Given the description of an element on the screen output the (x, y) to click on. 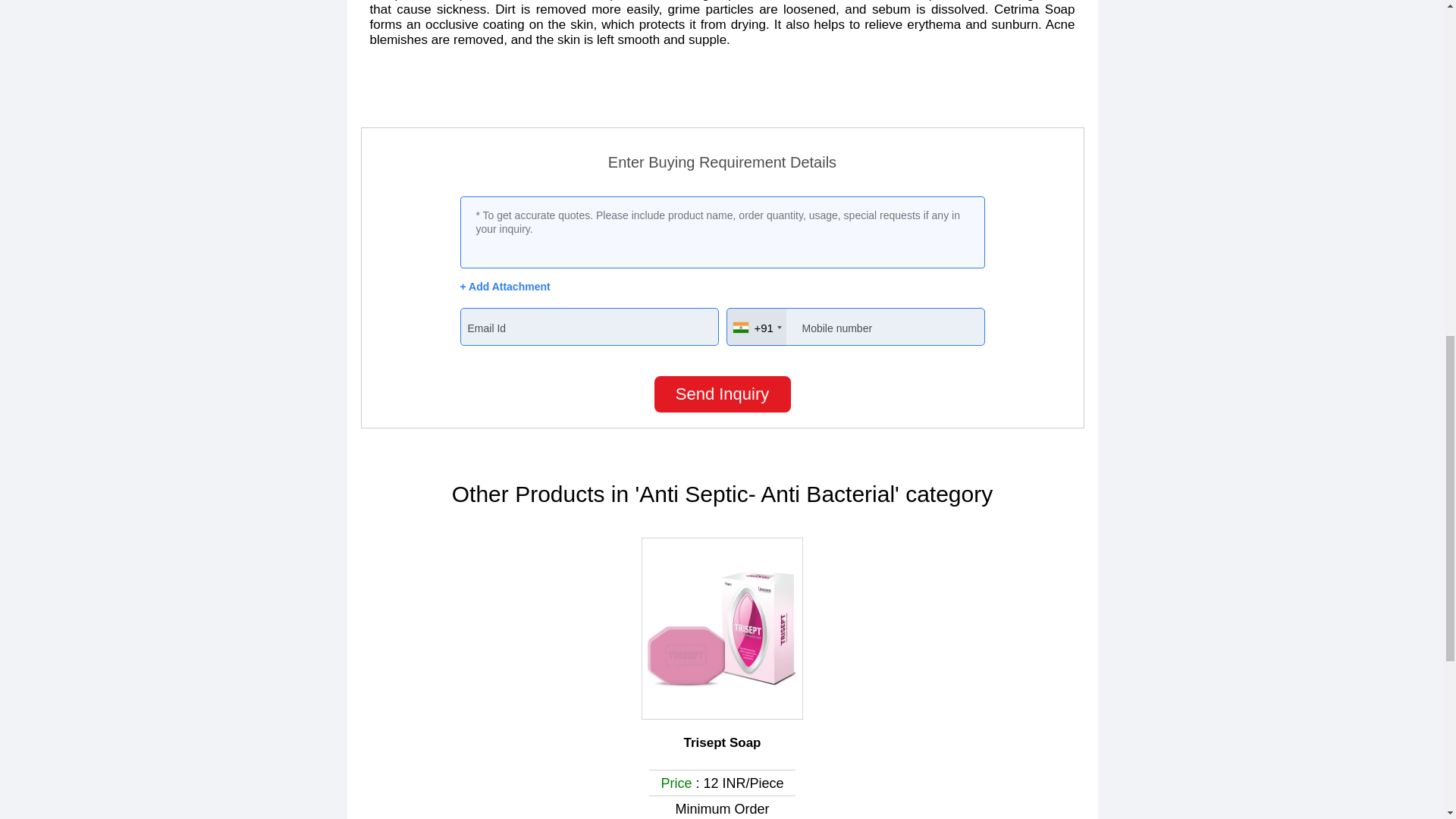
Send Inquiry (721, 393)
